Given the description of an element on the screen output the (x, y) to click on. 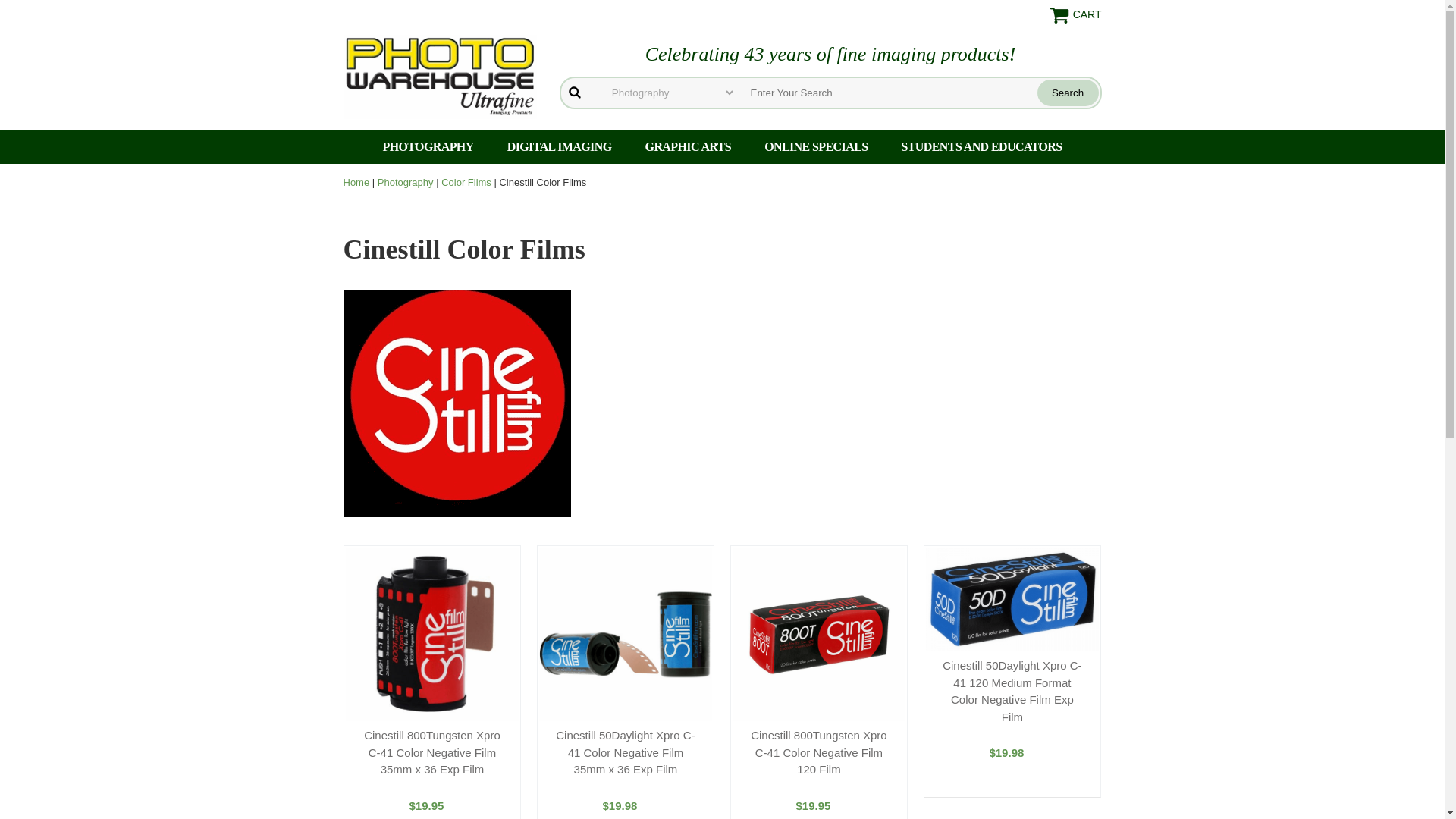
Cinestill 800Tungsten Xpro C-41 Color Negative Film 120 Film (818, 752)
PHOTOGRAPHY (427, 146)
Search (1067, 92)
Search (1067, 92)
DIGITAL IMAGING (559, 146)
UltraFineOnLine Photo Warehouse (438, 75)
GRAPHIC ARTS (688, 146)
CART (1075, 14)
